Given the description of an element on the screen output the (x, y) to click on. 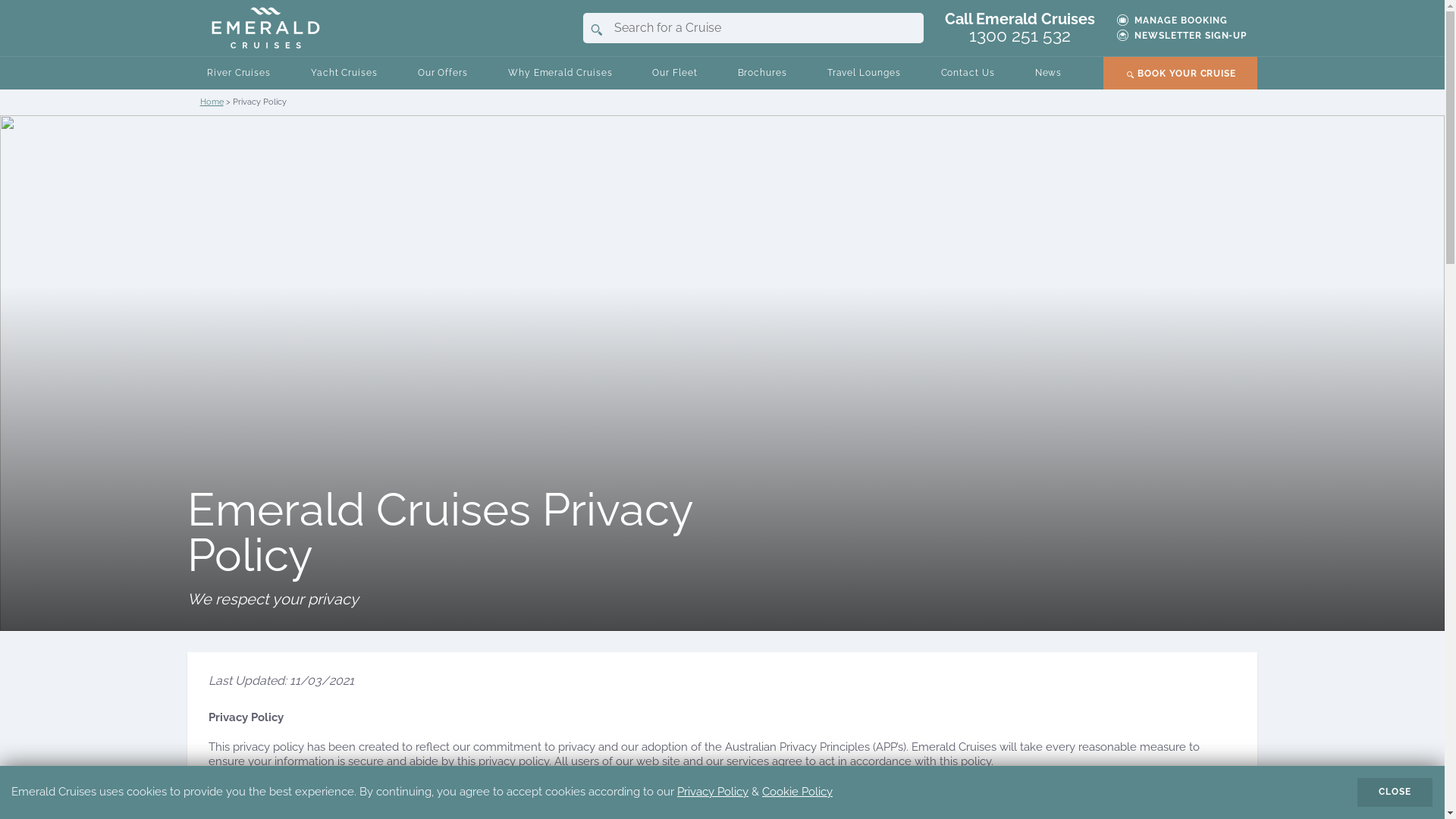
CLOSE Element type: text (1394, 792)
Our Offers Element type: text (442, 73)
Travel Lounges Element type: text (863, 73)
Brochures Element type: text (761, 73)
Call Emerald Cruises
1300 251 532 Element type: text (1019, 27)
BOOK YOUR CRUISE Element type: text (1180, 73)
Home Element type: text (211, 101)
River Cruises Element type: text (239, 73)
Cookie Policy Element type: text (797, 791)
Privacy Policy Element type: text (712, 791)
News Element type: text (1047, 73)
Yacht Cruises Element type: text (344, 73)
Why Emerald Cruises Element type: text (560, 73)
NEWSLETTER SIGN-UP Element type: text (1190, 35)
MANAGE BOOKING Element type: text (1180, 20)
Our Fleet Element type: text (674, 73)
Contact Us Element type: text (967, 73)
Emerald Cruises logo Element type: hover (265, 27)
